Given the description of an element on the screen output the (x, y) to click on. 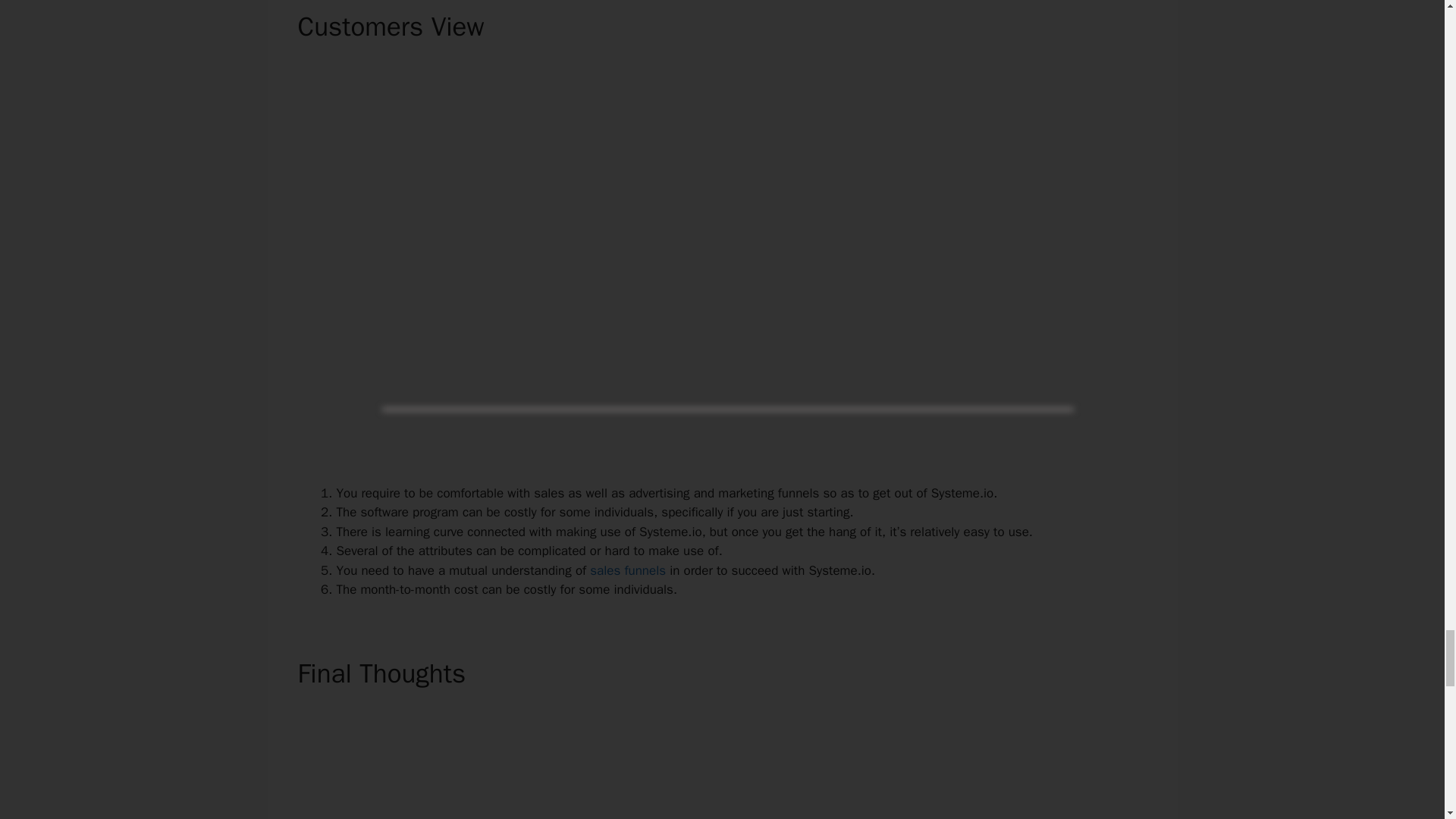
sales funnels (627, 570)
